Given the description of an element on the screen output the (x, y) to click on. 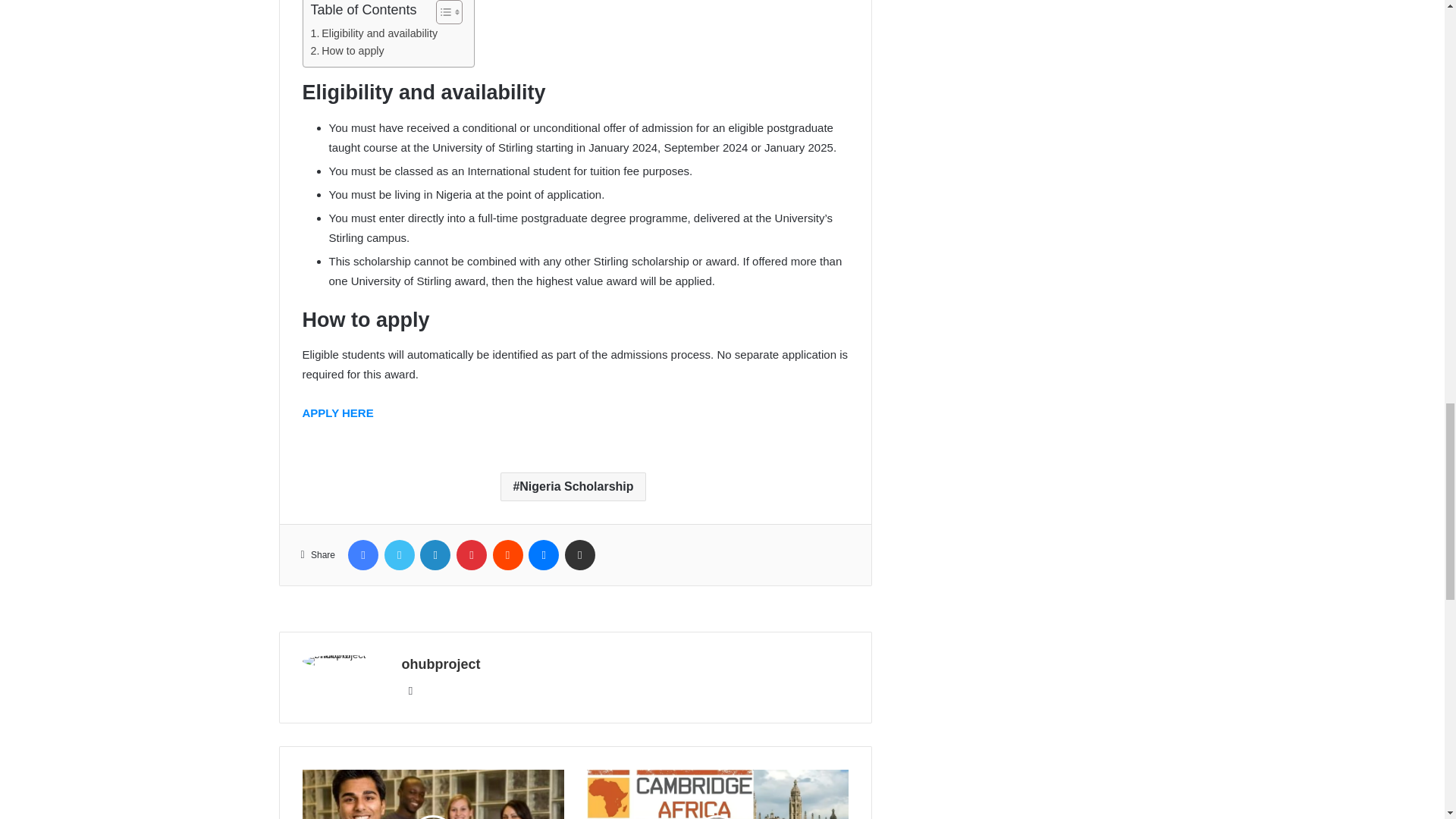
Nigeria Scholarship (572, 486)
How to apply (347, 50)
Eligibility and availability (374, 33)
APPLY HERE (336, 412)
